Given the description of an element on the screen output the (x, y) to click on. 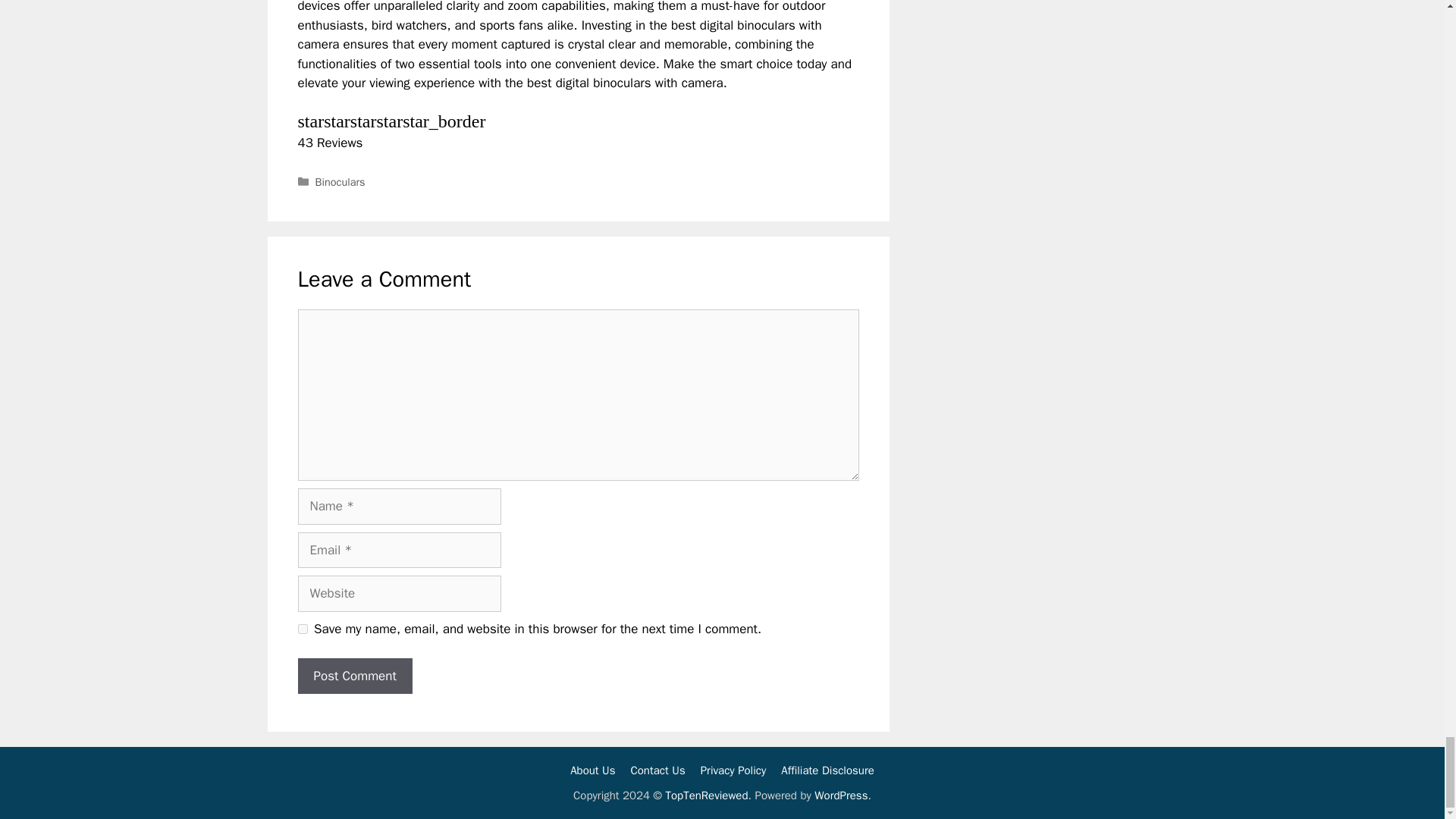
Post Comment (354, 676)
yes (302, 628)
